Given the description of an element on the screen output the (x, y) to click on. 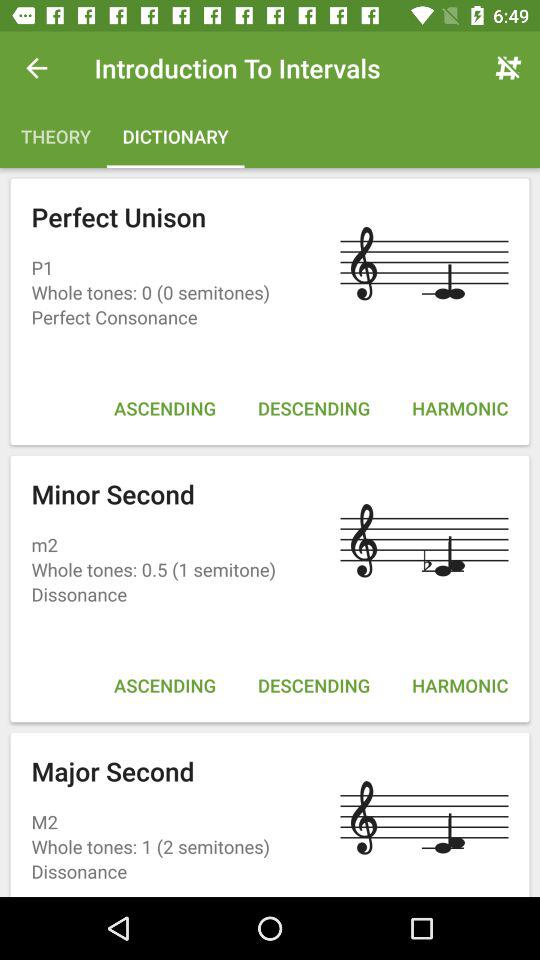
click item to the right of introduction to intervals item (508, 67)
